Given the description of an element on the screen output the (x, y) to click on. 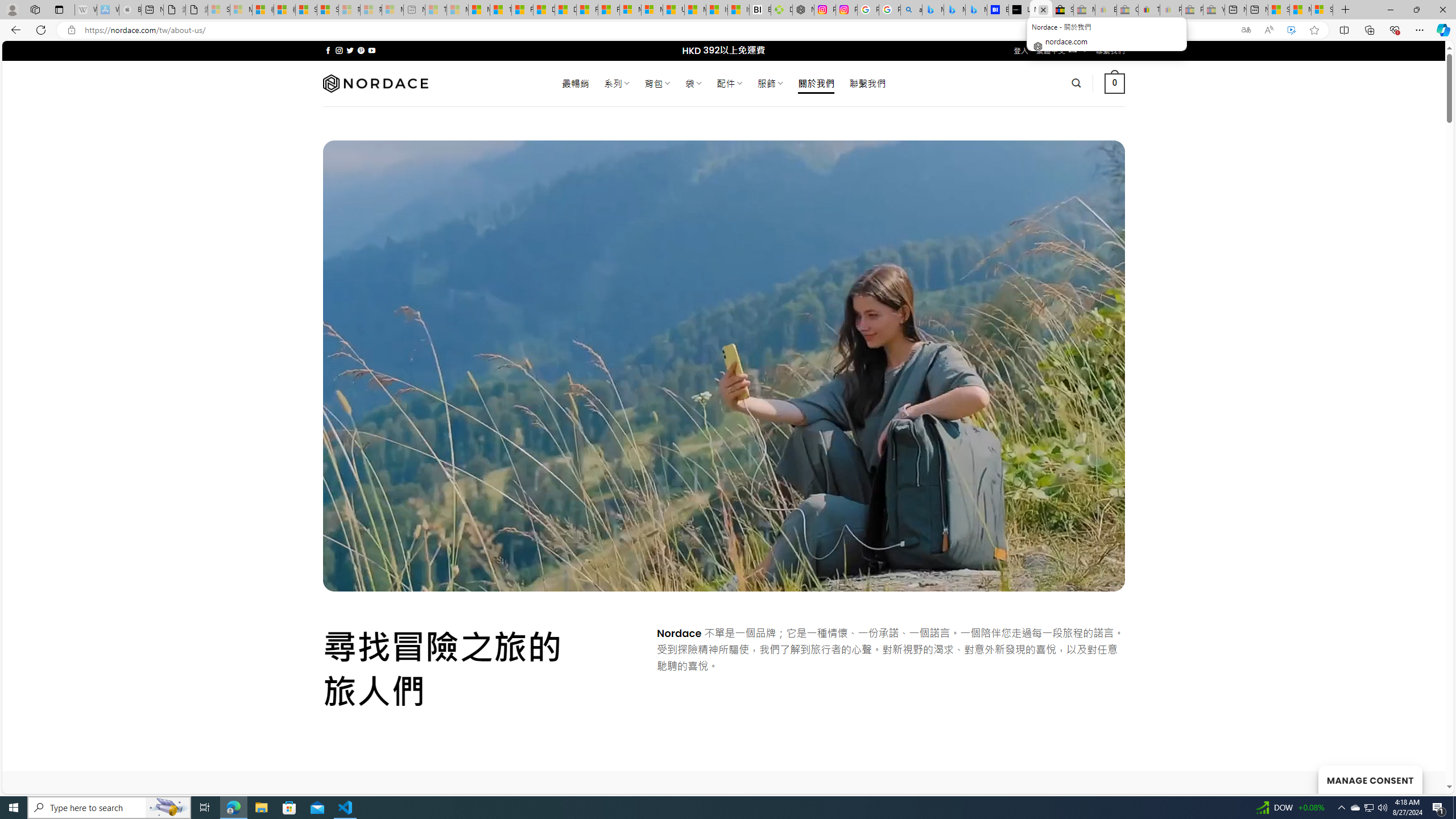
 0  (1115, 83)
Nordace - Nordace Edin Collection (802, 9)
Follow on Instagram (338, 50)
Microsoft Services Agreement - Sleeping (241, 9)
Shanghai, China hourly forecast | Microsoft Weather (1278, 9)
